Given the description of an element on the screen output the (x, y) to click on. 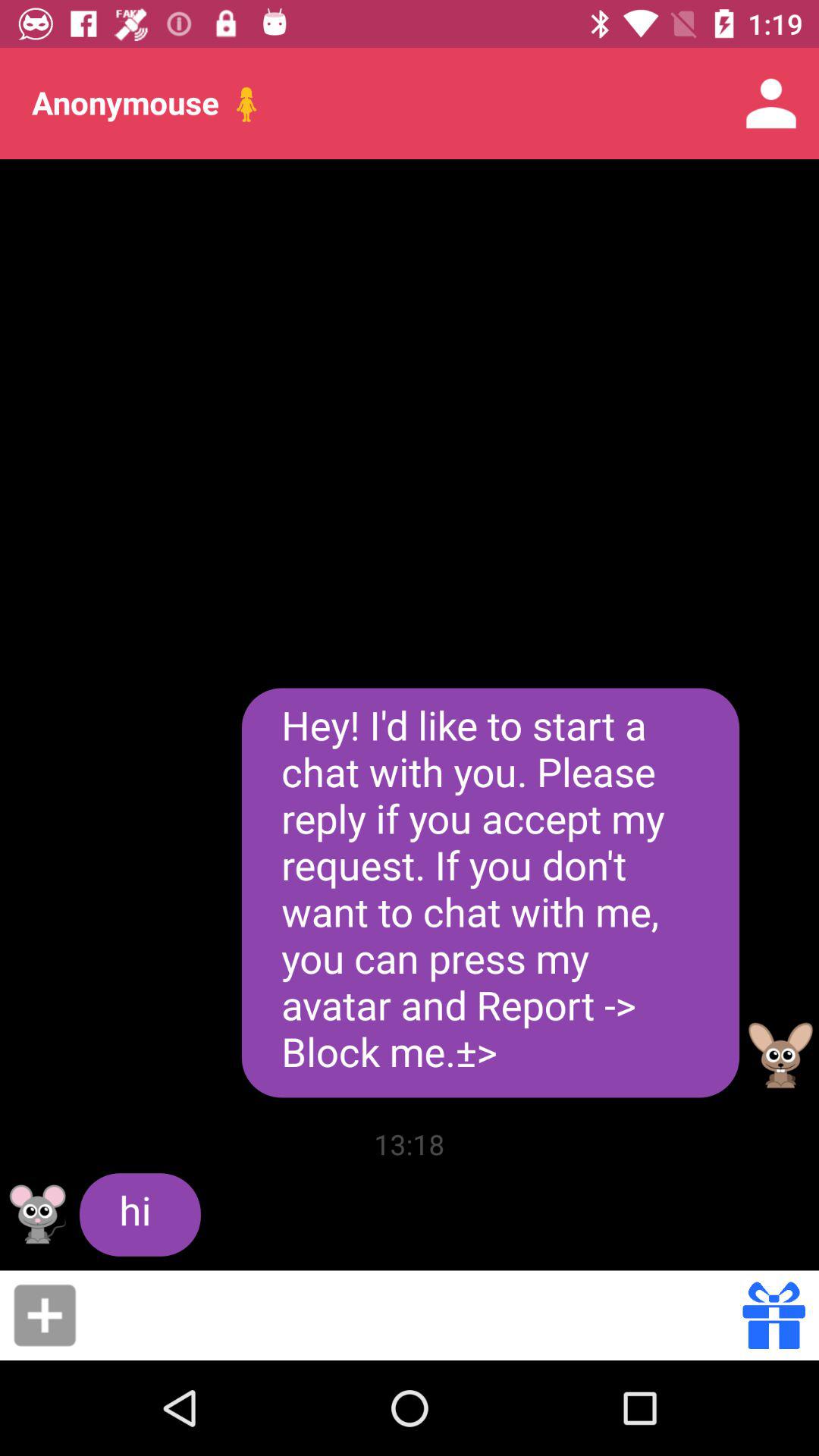
tap icon below the hi  item (414, 1315)
